Given the description of an element on the screen output the (x, y) to click on. 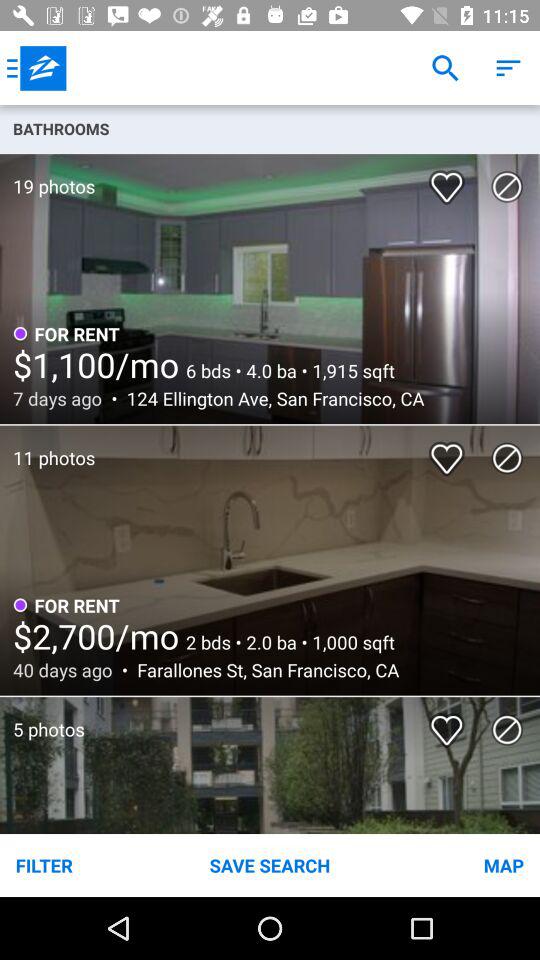
turn off the item above the bathrooms item (36, 68)
